Given the description of an element on the screen output the (x, y) to click on. 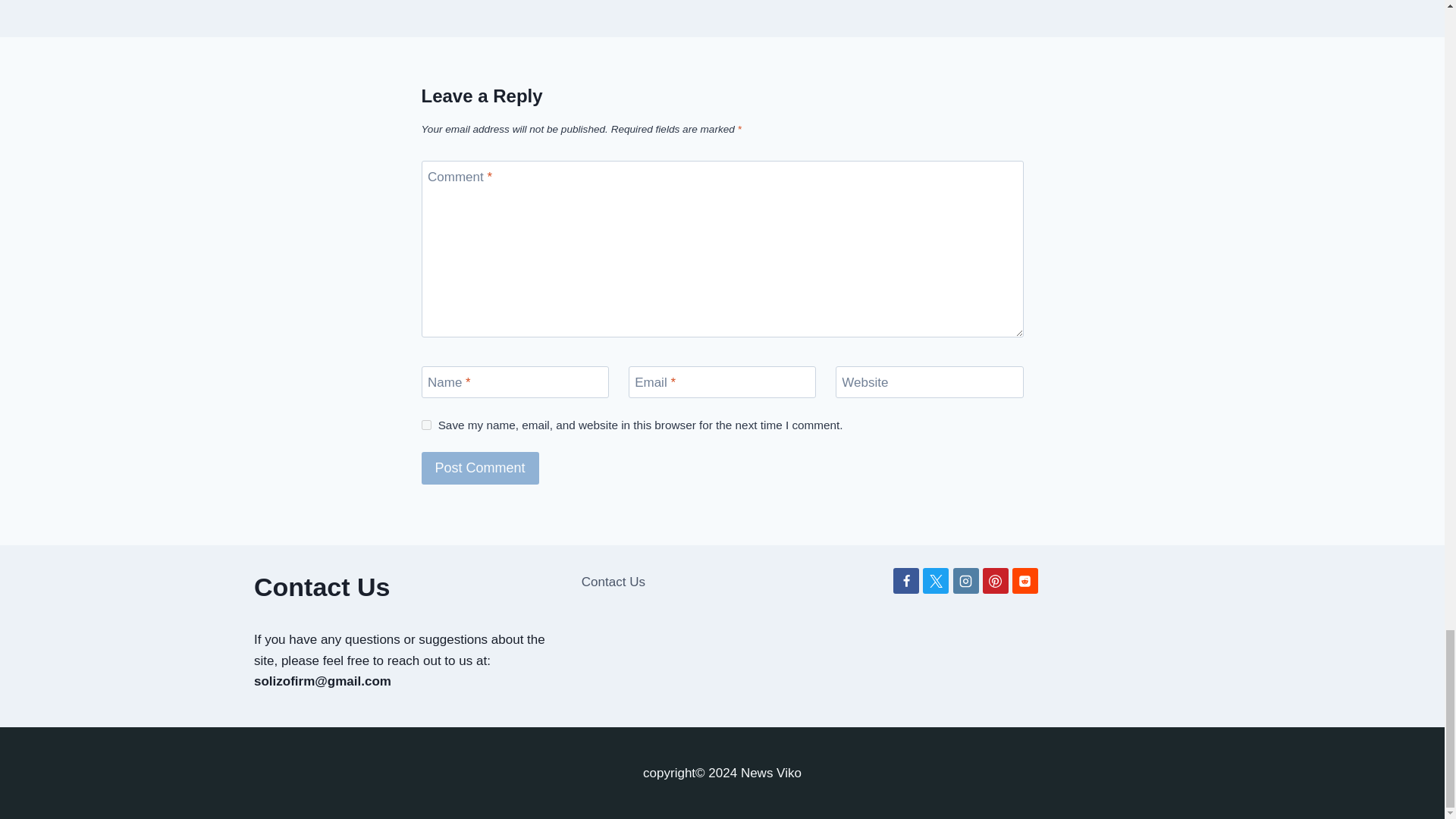
Post Comment (480, 468)
yes (426, 424)
